Given the description of an element on the screen output the (x, y) to click on. 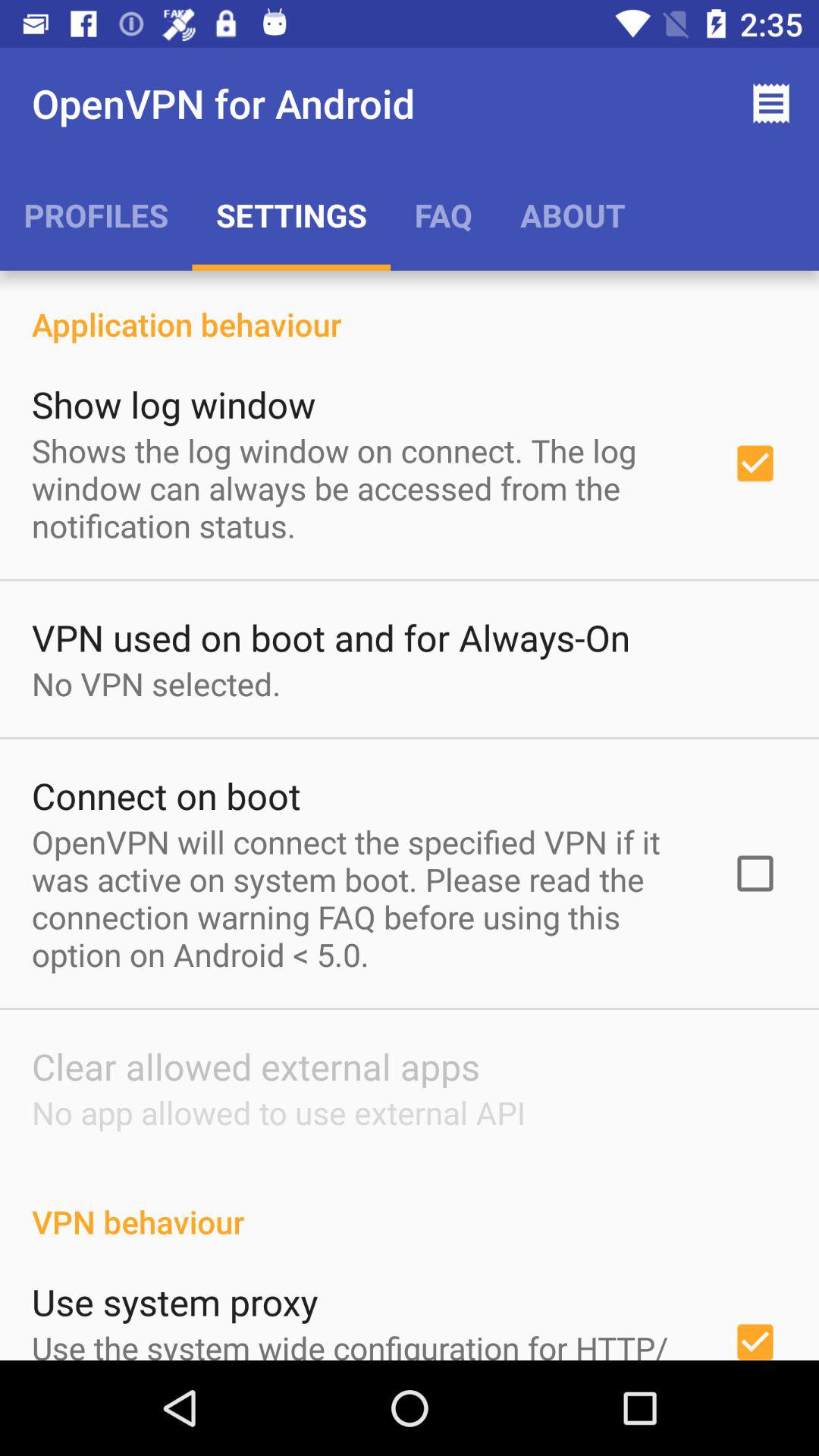
click on the icon at the top right corner (771, 103)
